Given the description of an element on the screen output the (x, y) to click on. 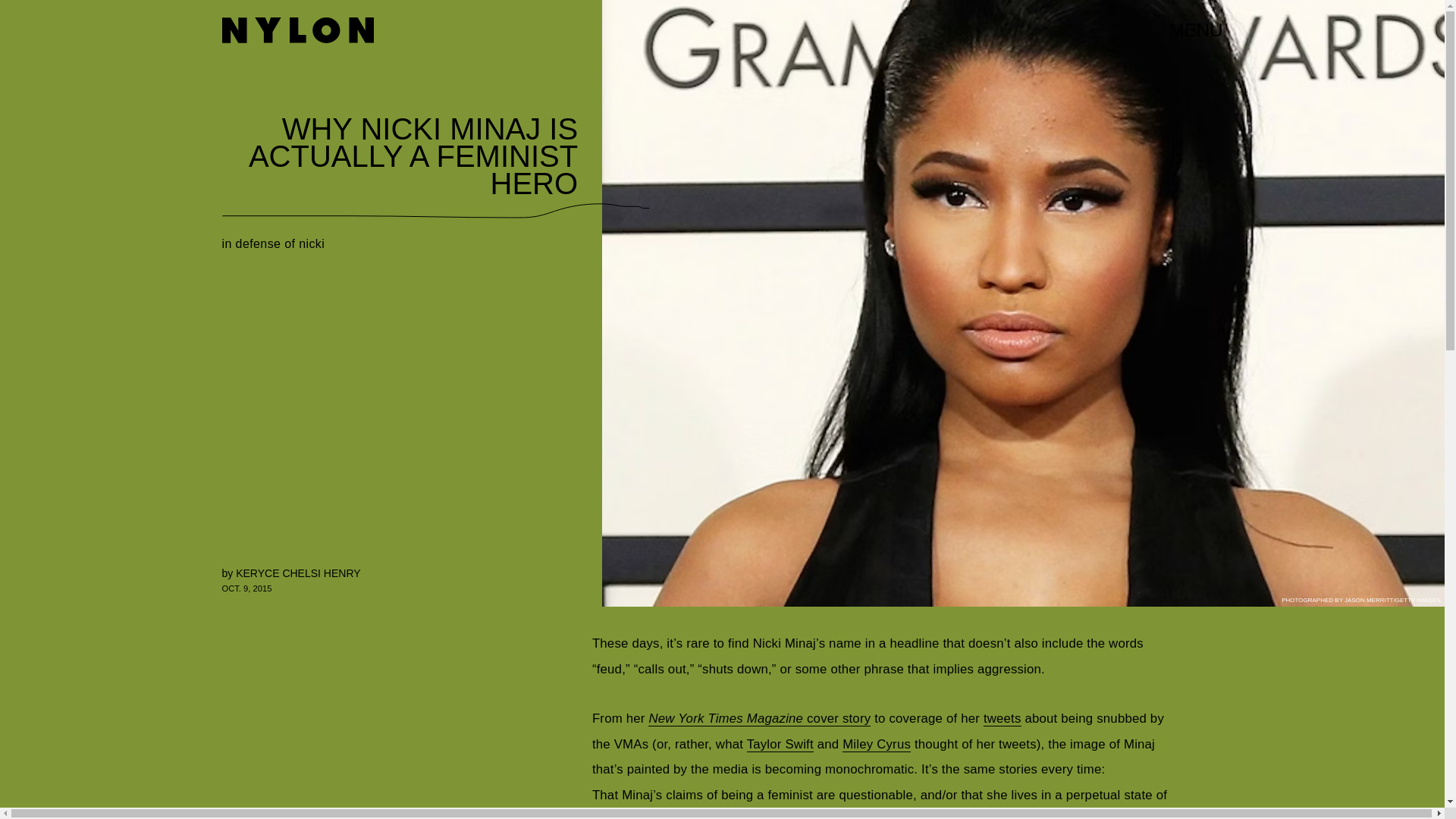
tweets (1003, 718)
New York Times Magazine cover story (758, 718)
Taylor Swift (779, 744)
Miley Cyrus (877, 744)
KERYCE CHELSI HENRY (297, 573)
Nylon (296, 30)
